Given the description of an element on the screen output the (x, y) to click on. 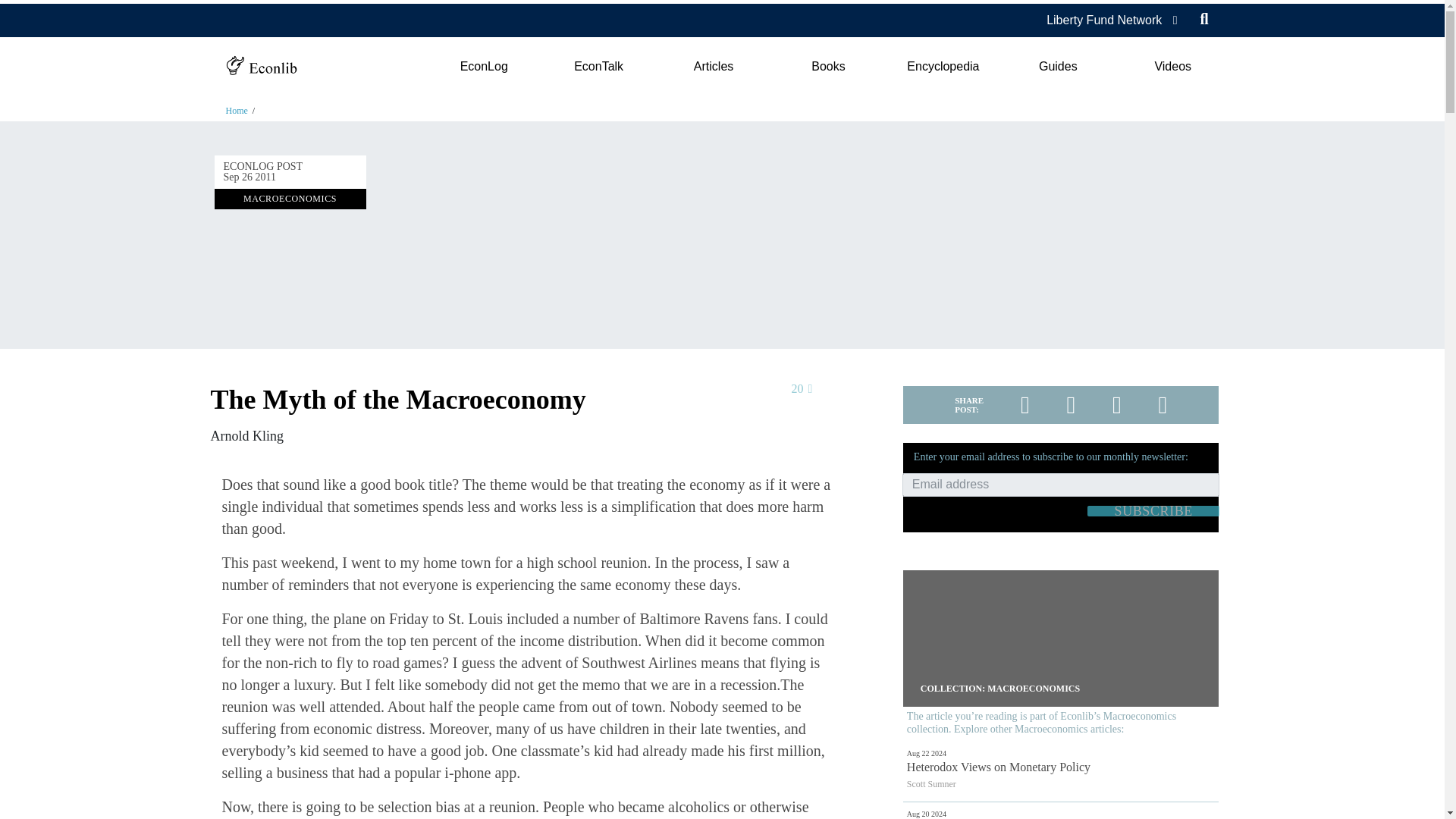
Subscribe (1153, 511)
Books (828, 66)
EconTalk (598, 66)
Encyclopedia (942, 66)
EconLog (483, 66)
Arnold Kling (247, 435)
Liberty Fund Network (1104, 20)
Articles (713, 66)
